Given the description of an element on the screen output the (x, y) to click on. 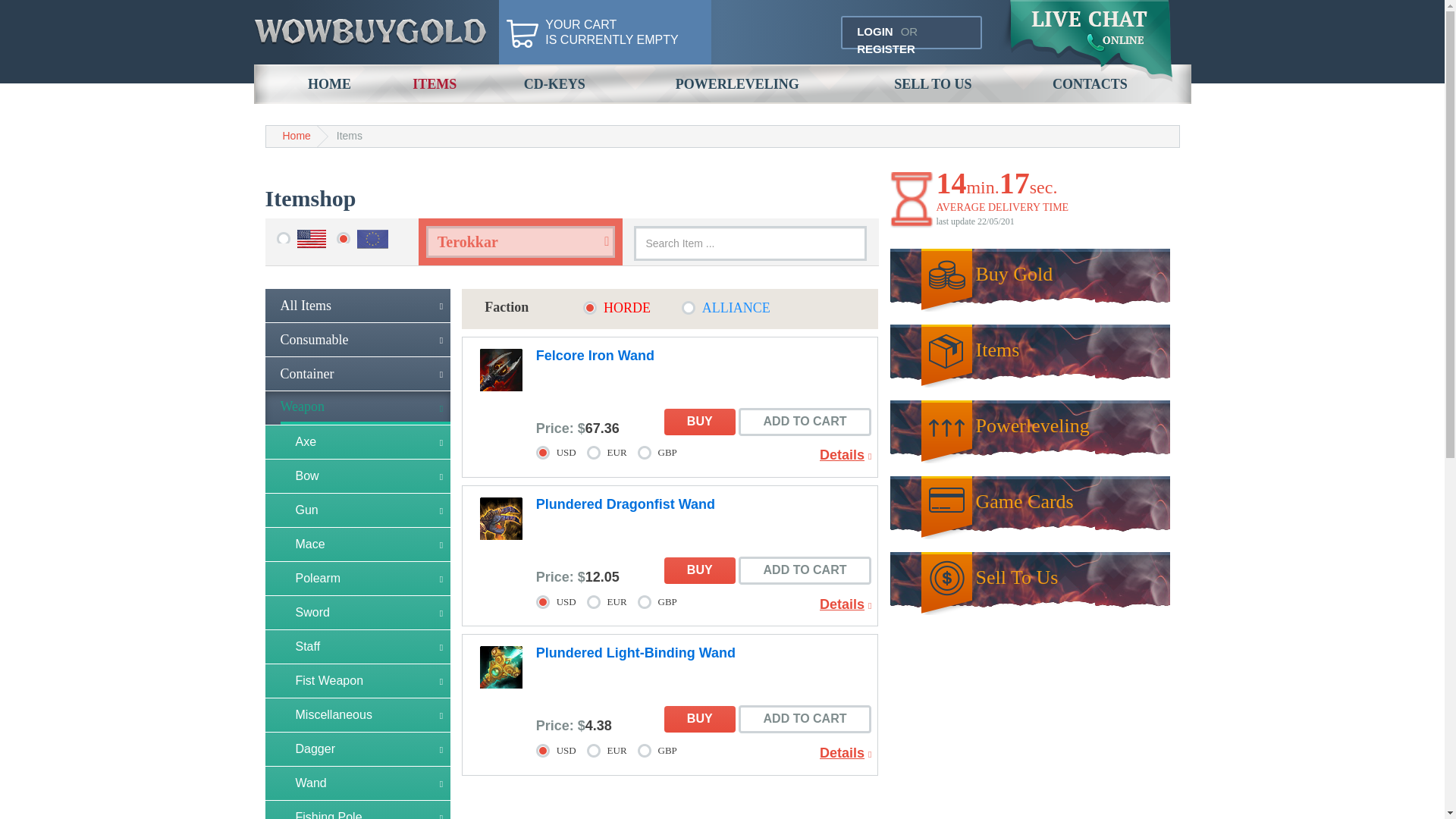
BUY (699, 421)
REGISTER (886, 48)
Fist Weapon (357, 680)
Miscellaneous (357, 715)
Mace (357, 544)
Fishing Pole (357, 809)
Polearm (357, 578)
Wand (357, 783)
Weapon (357, 408)
ITEMS (434, 84)
Items (349, 135)
SELL TO US (611, 32)
Consumable (932, 84)
Dagger (357, 339)
